Given the description of an element on the screen output the (x, y) to click on. 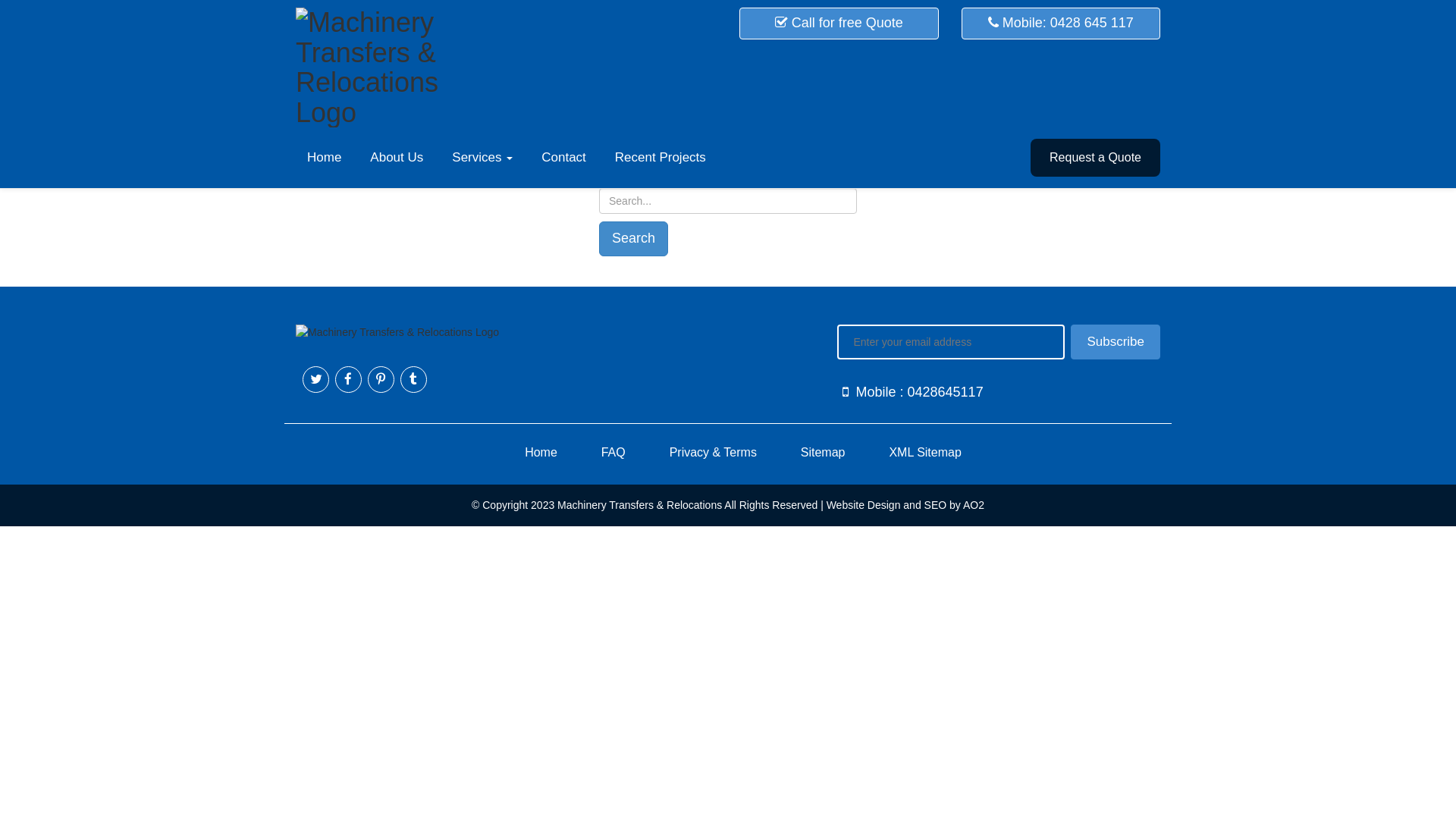
0428 645 117 Element type: text (1091, 22)
Home Element type: text (540, 451)
Request a Quote Element type: text (1095, 157)
Contact Element type: text (563, 157)
Call for free Quote Element type: text (839, 22)
Subscribe Element type: text (1115, 341)
About Us Element type: text (396, 157)
Sitemap Element type: text (822, 451)
Homepage Element type: text (727, 112)
XML Sitemap Element type: text (924, 451)
Privacy & Terms Element type: text (712, 451)
Search Element type: text (633, 238)
FAQ Element type: text (613, 451)
0428645117 Element type: text (945, 391)
Services Element type: text (482, 157)
Home Element type: text (323, 157)
Recent Projects Element type: text (660, 157)
